Given the description of an element on the screen output the (x, y) to click on. 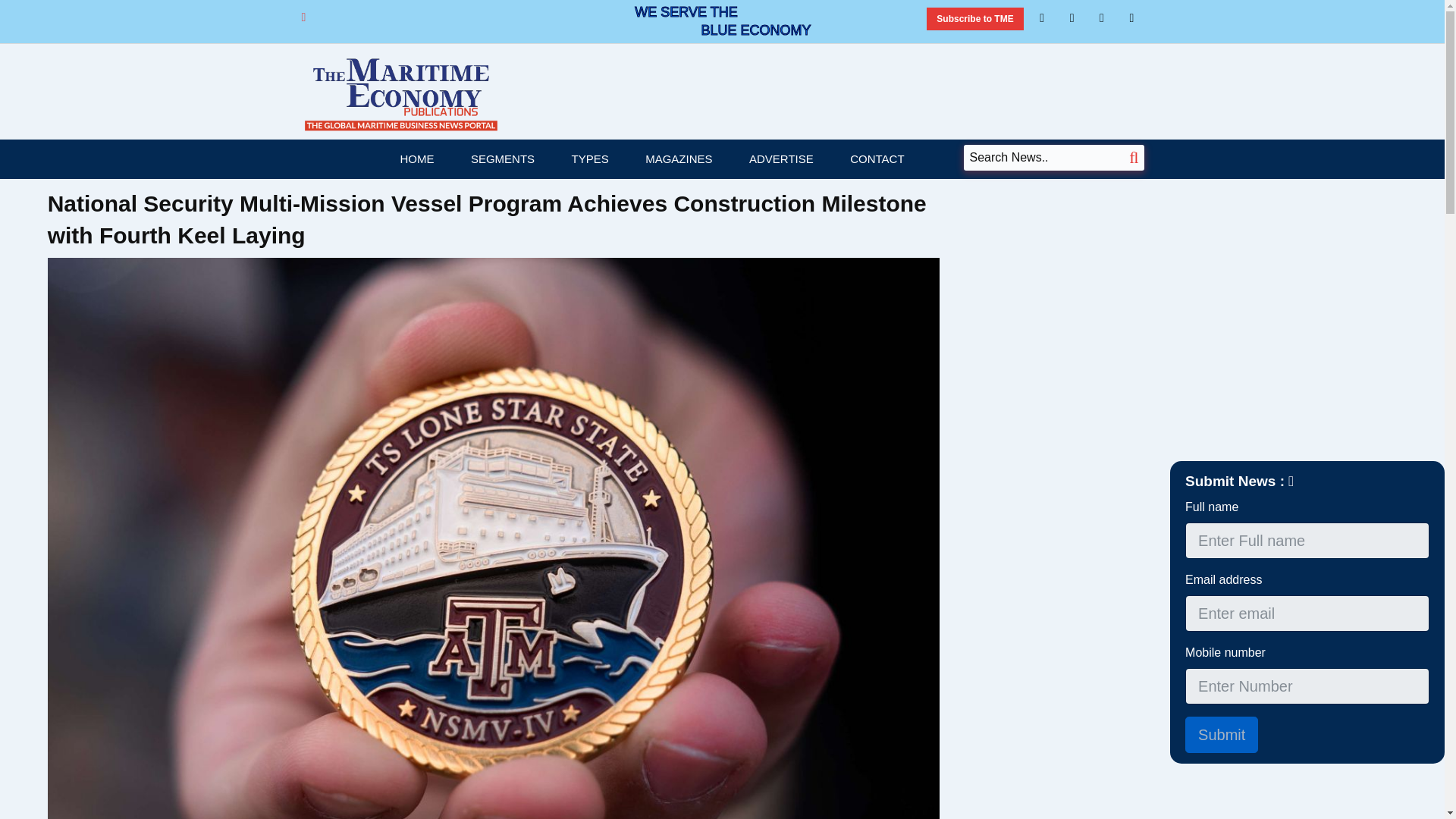
Linkedin (1041, 17)
facebook (1072, 17)
twitter (1101, 17)
HOME (415, 159)
SEGMENTS (502, 159)
youtube (1130, 17)
Subscribe to TME (974, 18)
